Given the description of an element on the screen output the (x, y) to click on. 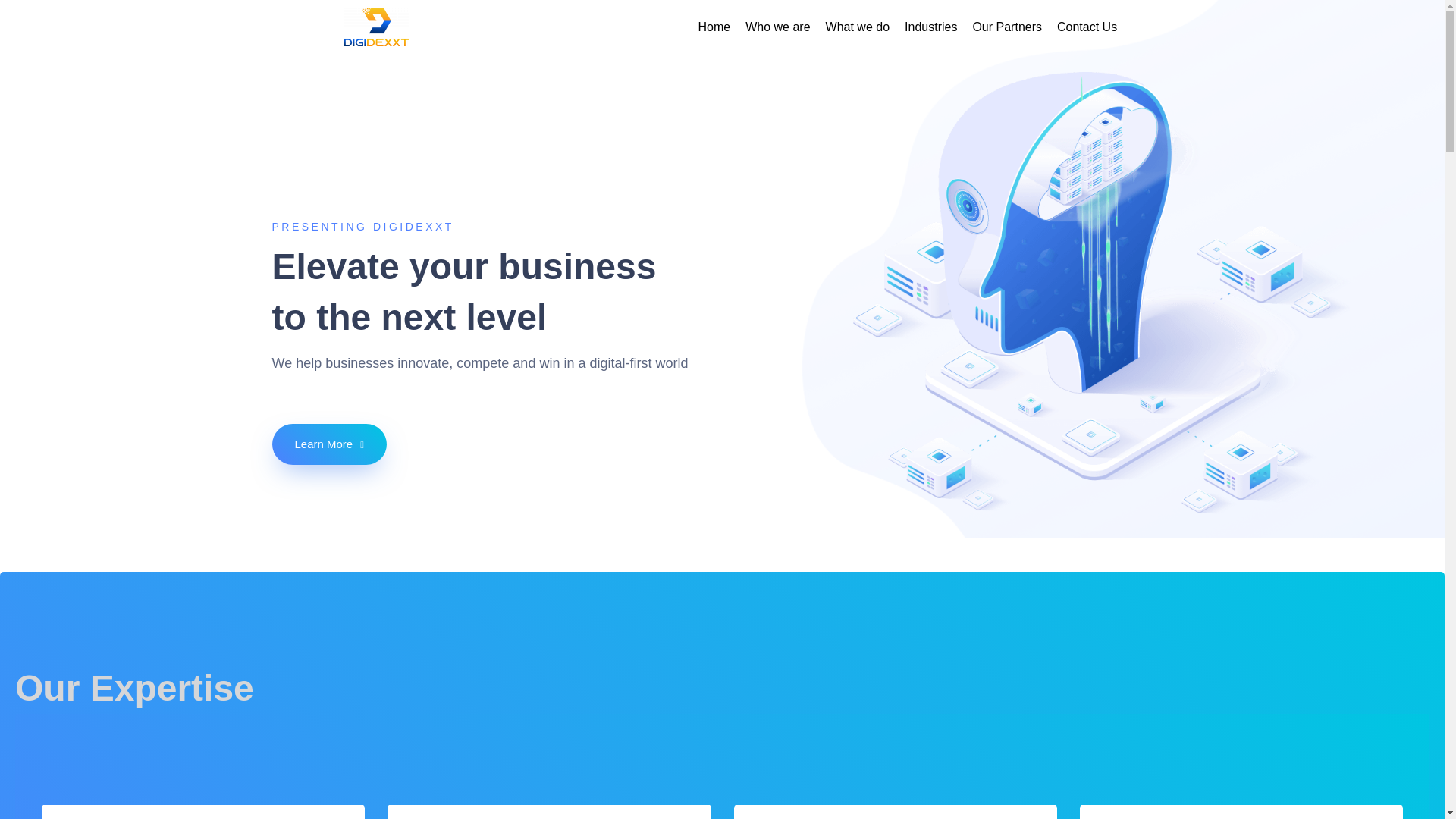
Who we are (777, 26)
Digidexxt Logo (376, 26)
What we do (857, 26)
Contact Us (1086, 26)
Industries (929, 26)
Learn More (327, 444)
Our Partners (1006, 26)
Home (714, 26)
